Given the description of an element on the screen output the (x, y) to click on. 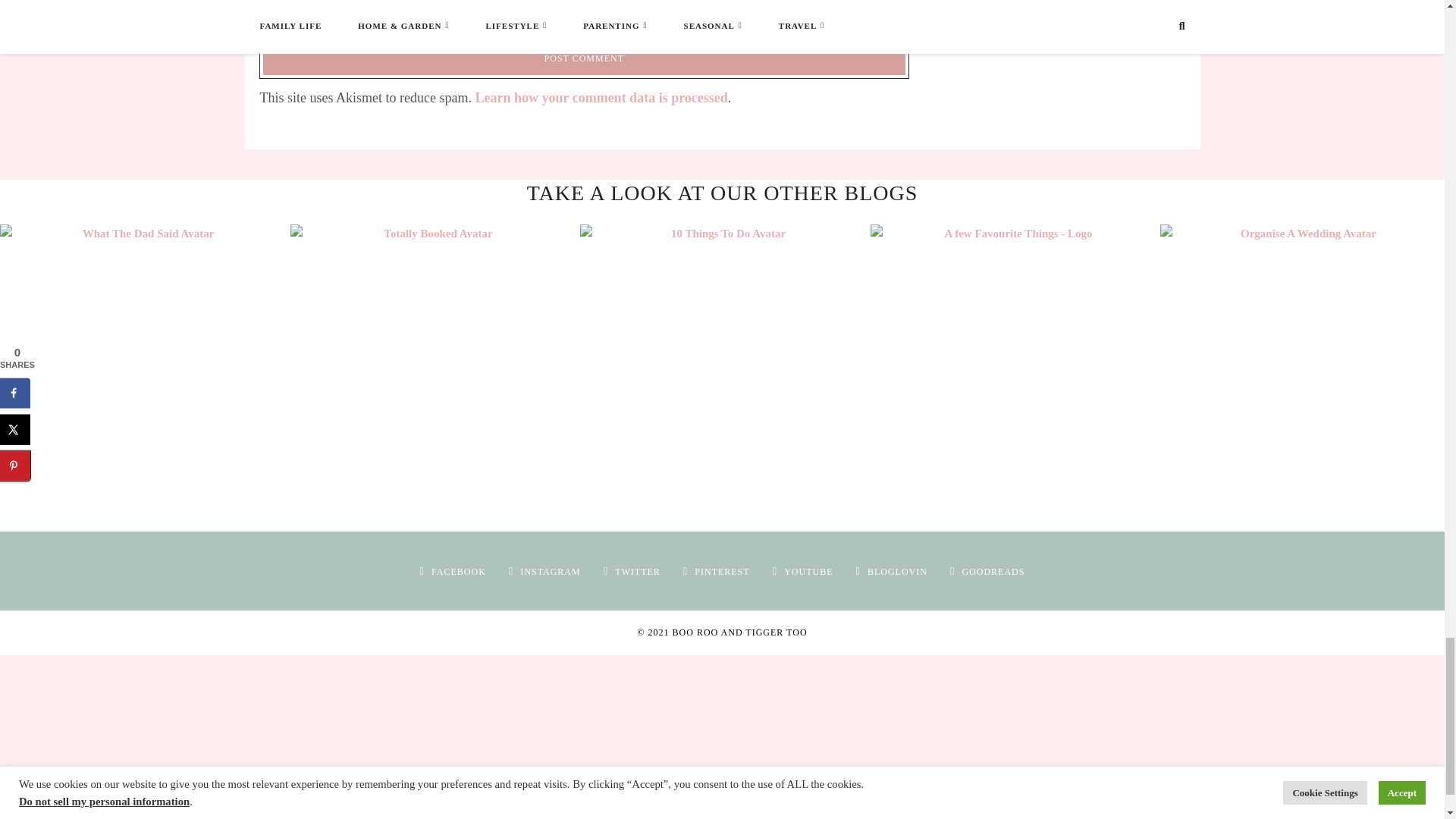
Post Comment (583, 58)
